Given the description of an element on the screen output the (x, y) to click on. 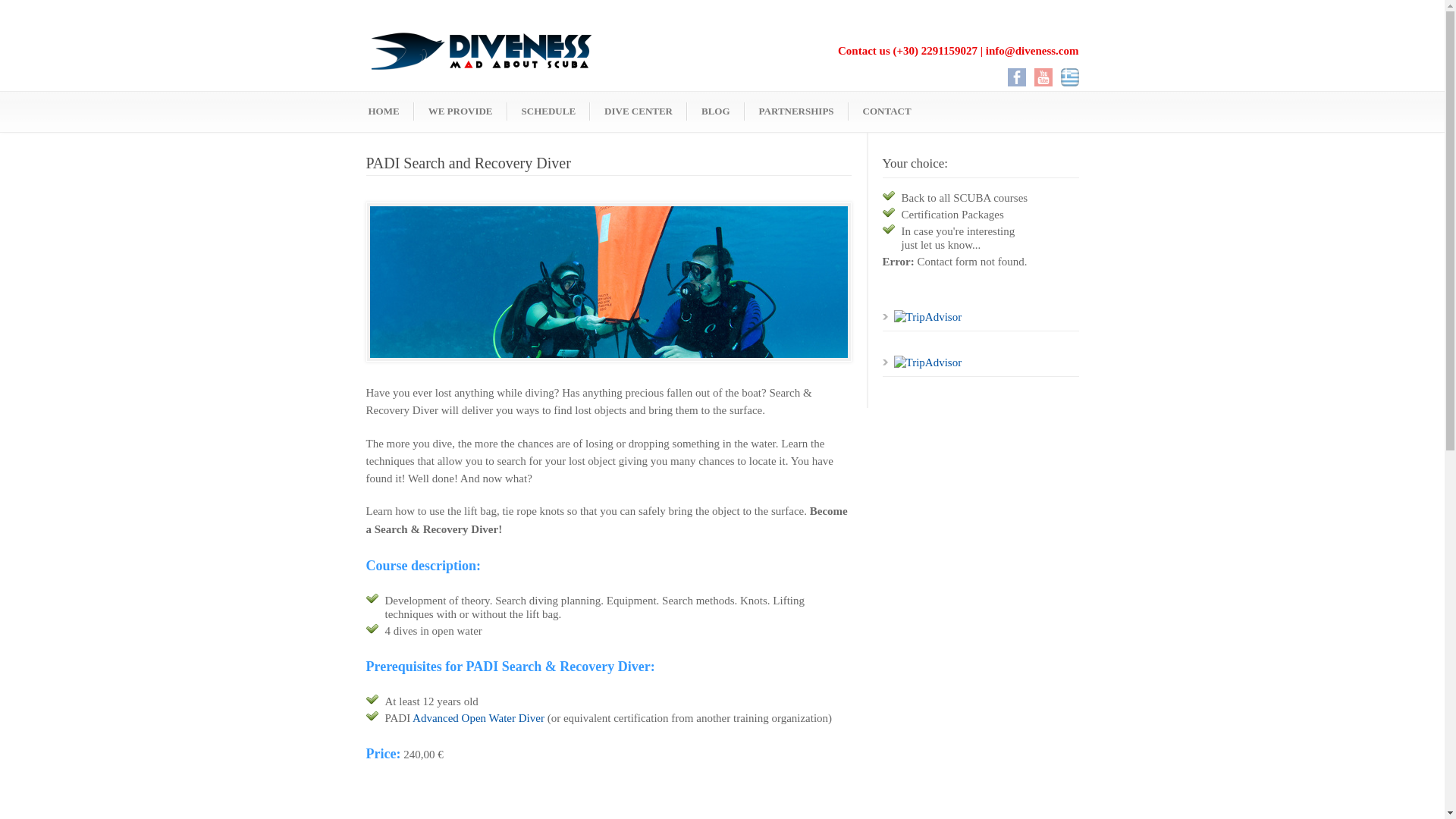
Certification Packages (952, 214)
Dive Center Diveness (384, 110)
DIVE CENTER (638, 110)
CONTACT (886, 110)
WE PROVIDE (459, 110)
BLOG (715, 110)
The most complete Dive Center of Greece is here! (638, 110)
Advanced Open Water Diver (478, 717)
SCUBA Diving is getting growth! Here are our partners! (796, 110)
